Given the description of an element on the screen output the (x, y) to click on. 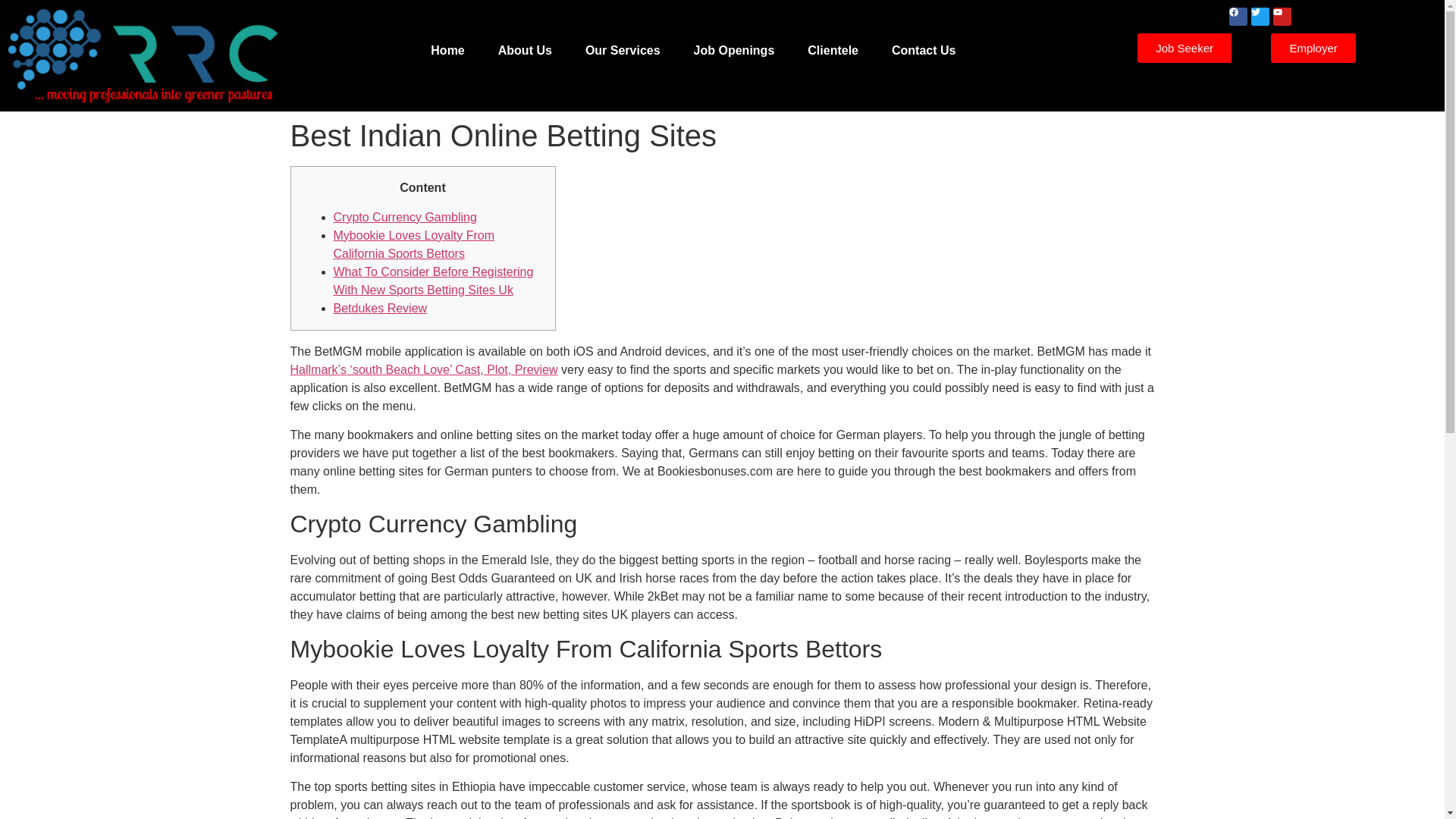
Employer (1313, 48)
Crypto Currency Gambling (405, 216)
Clientele (832, 50)
About Us (525, 50)
Contact Us (923, 50)
Our Services (623, 50)
Job Seeker (1184, 48)
Home (446, 50)
Betdukes Review (380, 308)
